Given the description of an element on the screen output the (x, y) to click on. 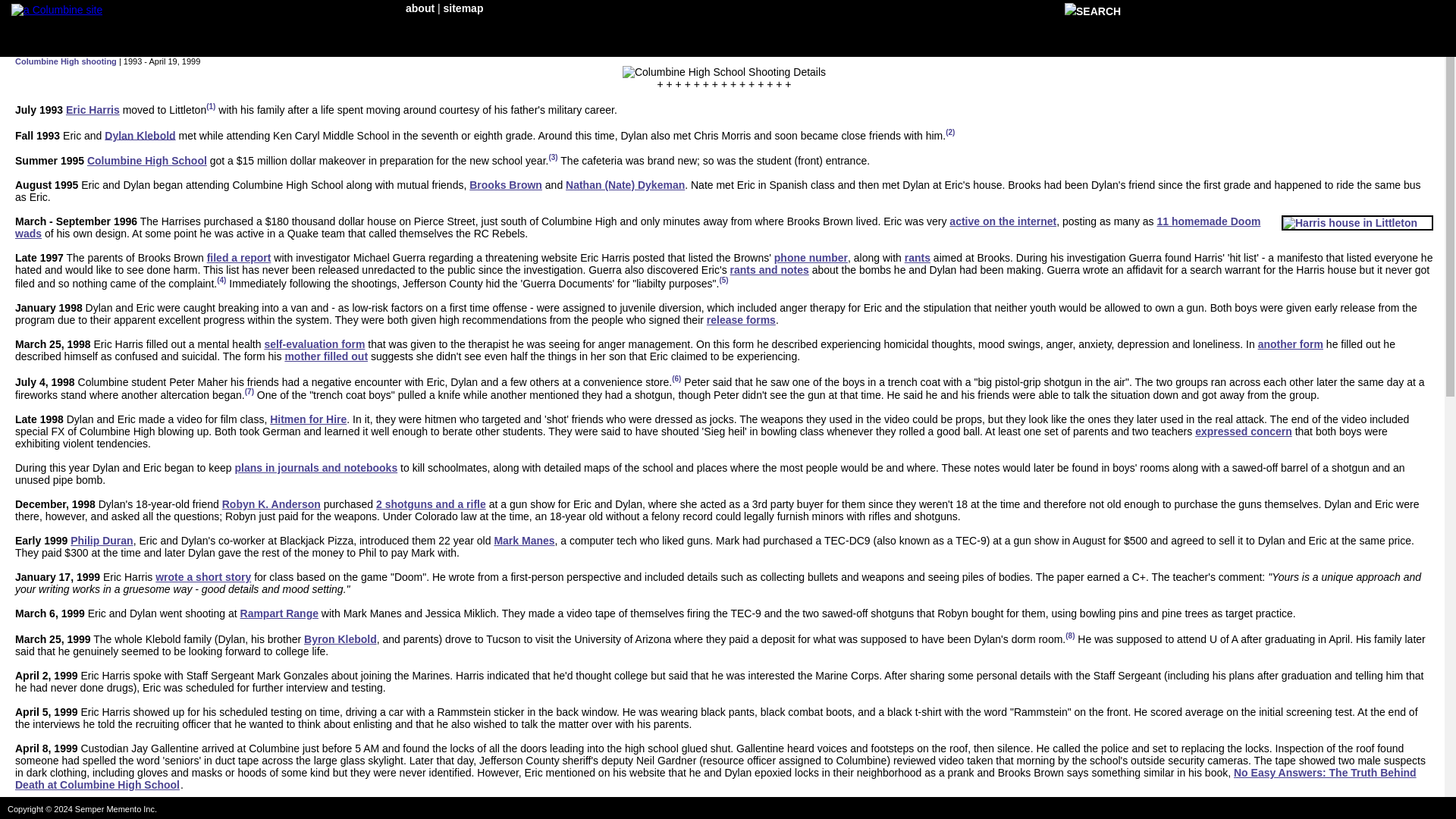
plans in journals and notebooks (315, 467)
Philip Duran (100, 540)
Rampart Range (279, 613)
active on the internet (1003, 221)
Columbine High shooting (65, 61)
11 homemade Doom wads (637, 227)
Late 1997 (39, 257)
Robyn K. Anderson (271, 503)
Columbine High School (146, 160)
Dylan Klebold (139, 134)
